Given the description of an element on the screen output the (x, y) to click on. 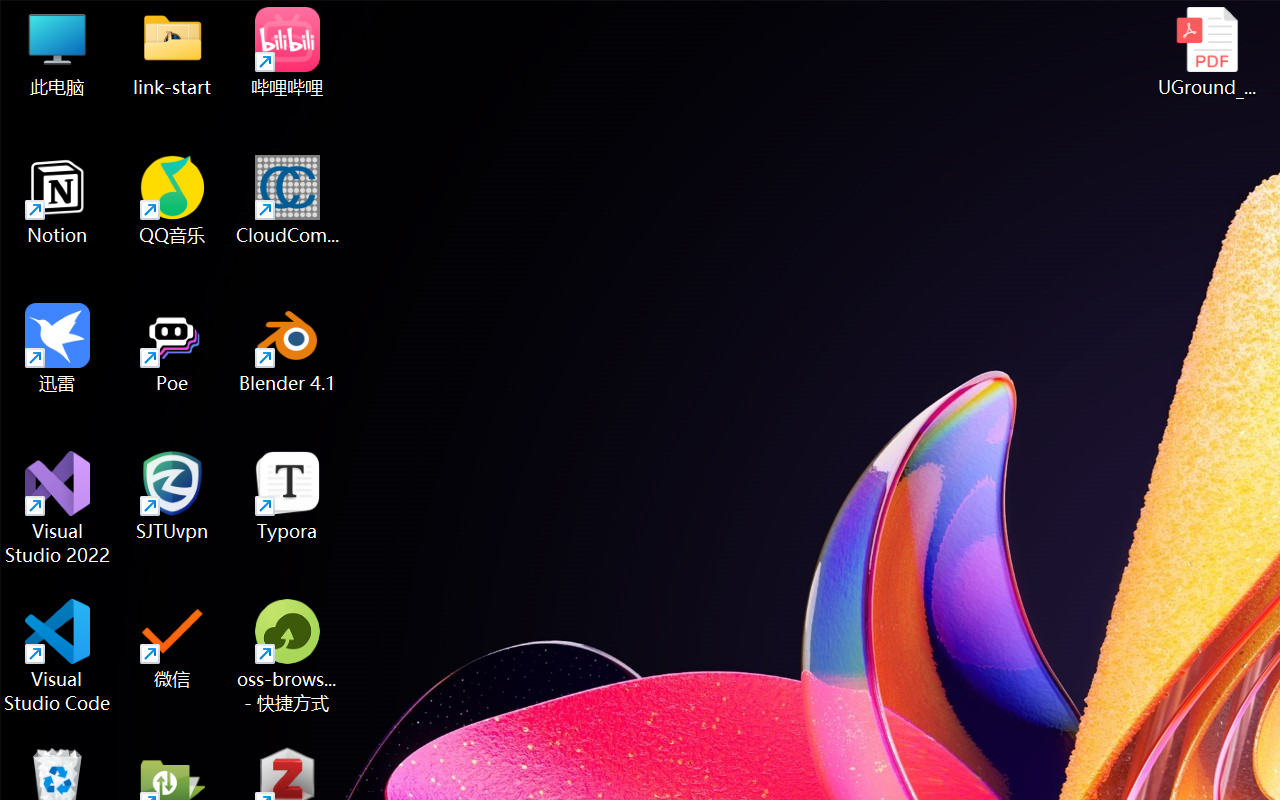
windows_crawler.py (745, 105)
Explain (962, 472)
Pen: Red, 0.5 mm (353, 173)
Ink Help (1223, 179)
Highlighter: Yellow, 6 mm (569, 173)
